Given the description of an element on the screen output the (x, y) to click on. 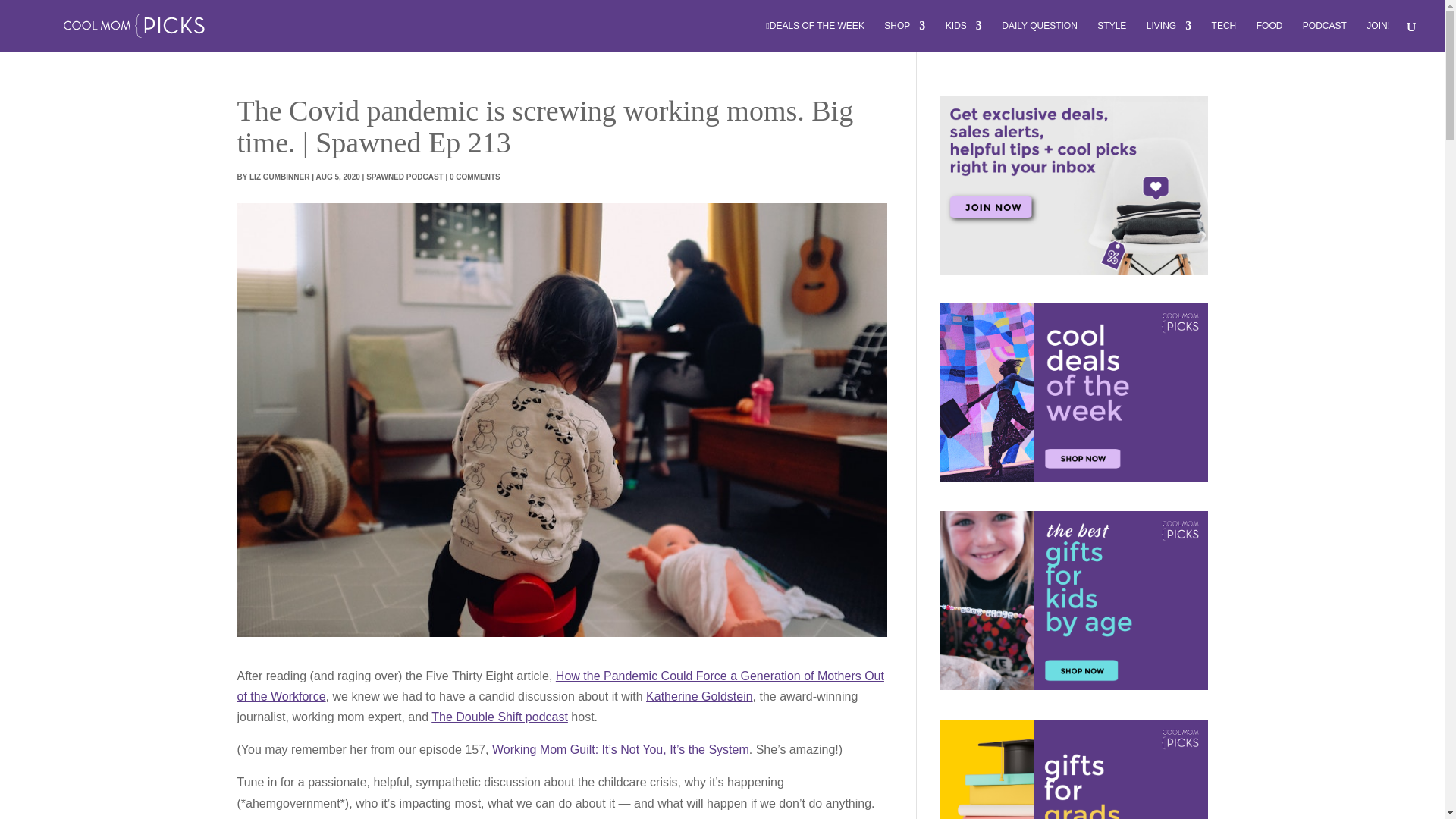
Our Ultimate Kids Gift Guide: The Best Gifts By Age (1073, 600)
PODCAST (1324, 35)
LIVING (1169, 35)
DAILY QUESTION (1039, 35)
Posts by Liz Gumbinner (278, 176)
SHOP (903, 35)
KIDS (962, 35)
STYLE (1111, 35)
